Given the description of an element on the screen output the (x, y) to click on. 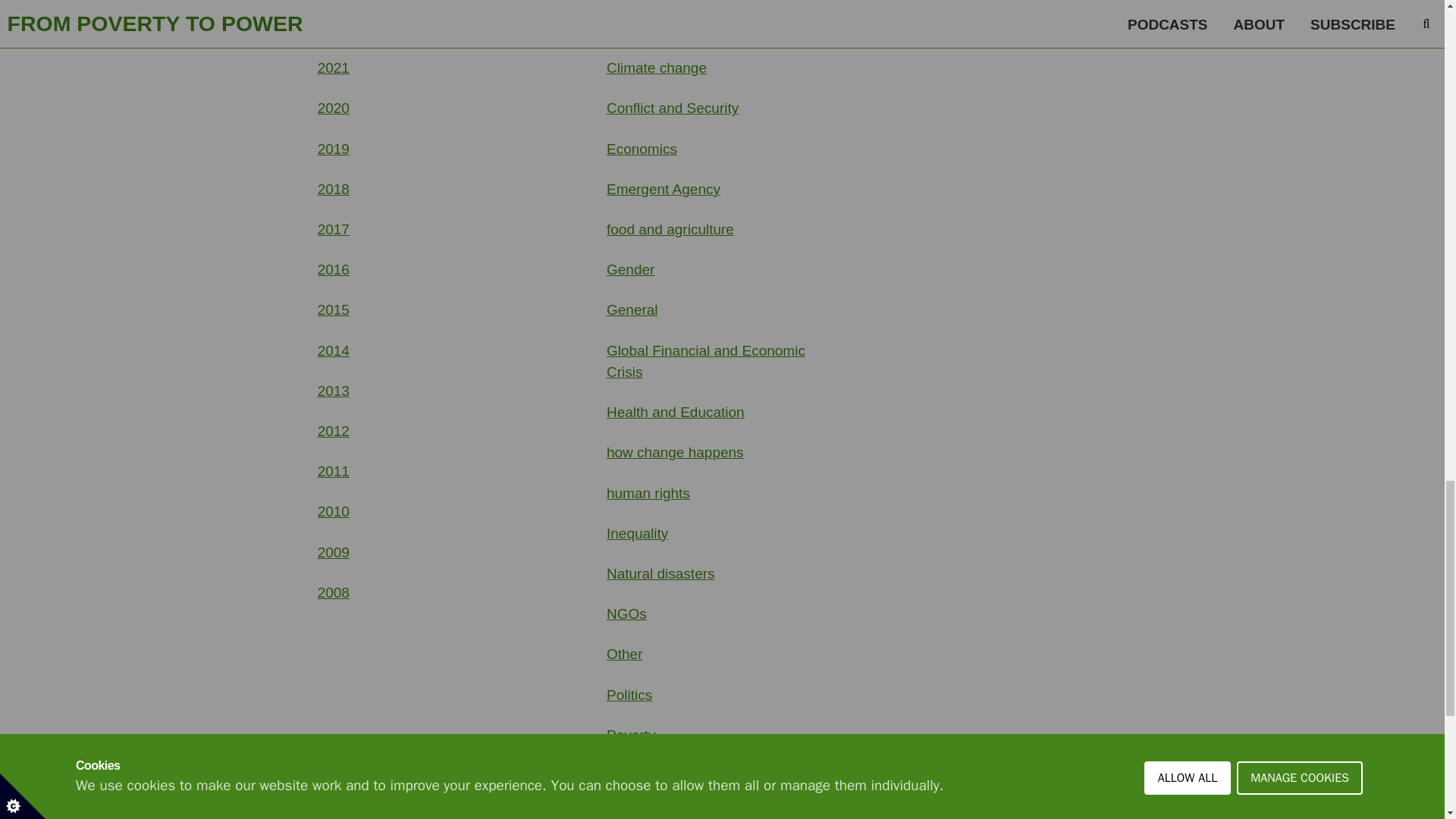
2014 (333, 350)
2011 (333, 471)
2012 (333, 430)
2016 (333, 269)
2022 (333, 27)
2009 (333, 552)
2018 (333, 188)
2020 (333, 107)
2010 (333, 511)
2019 (333, 148)
